Given the description of an element on the screen output the (x, y) to click on. 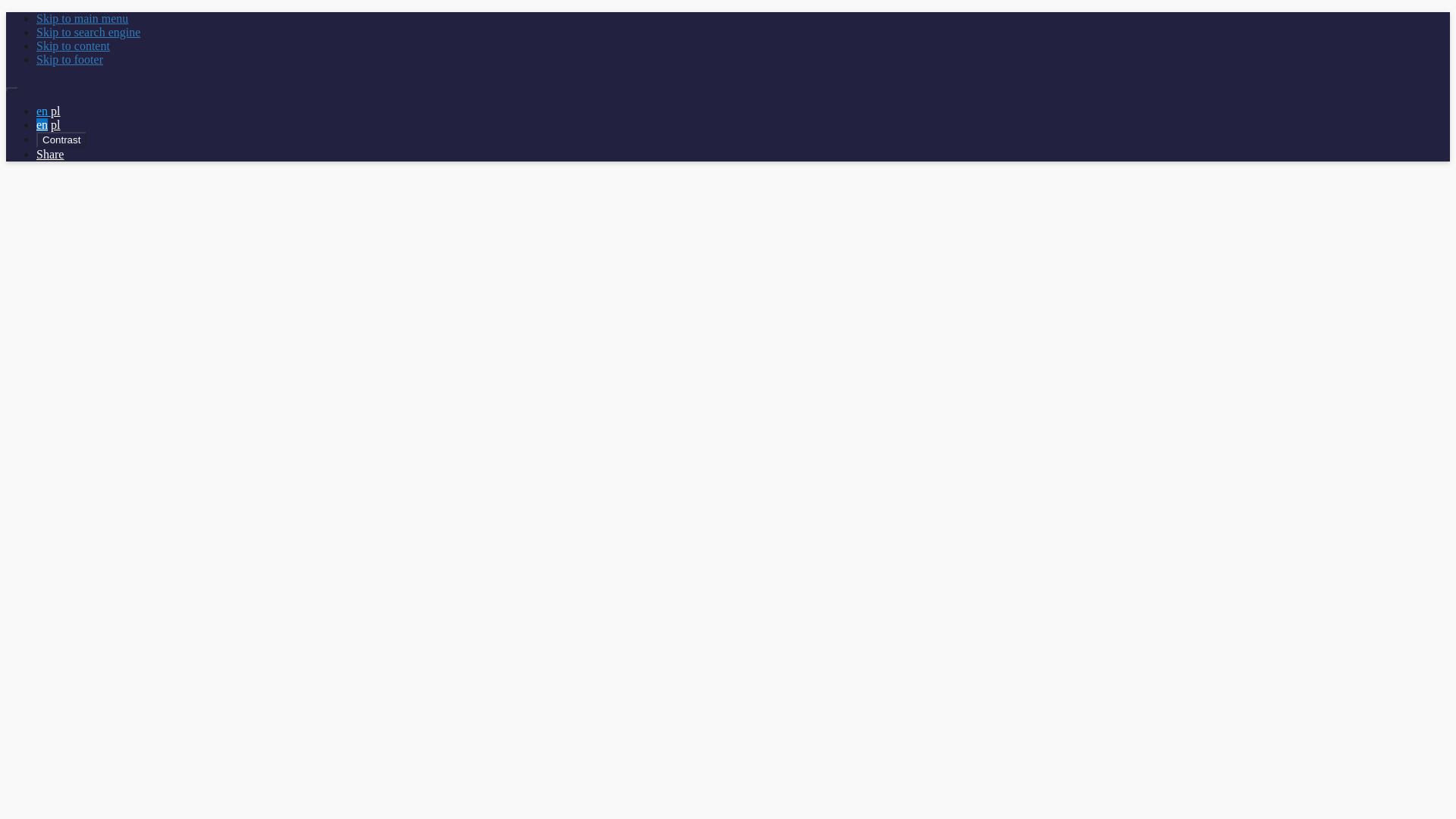
Skip to main menu (82, 18)
Skip to search engine (87, 31)
Skip to content (73, 45)
Skip to footer (69, 59)
English (43, 110)
en (43, 110)
Contrast (60, 139)
